Given the description of an element on the screen output the (x, y) to click on. 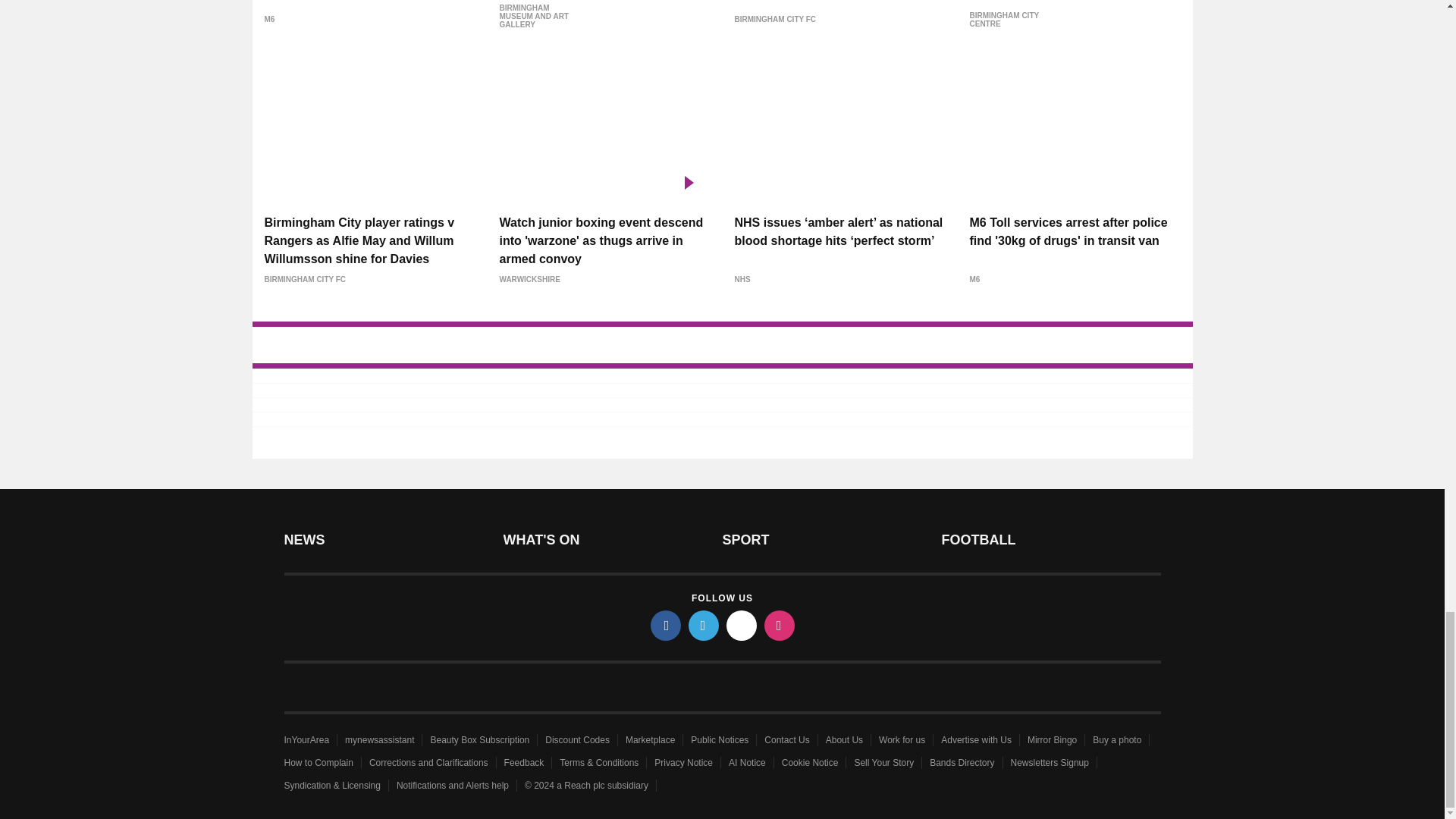
facebook (665, 625)
tiktok (741, 625)
instagram (779, 625)
twitter (703, 625)
